Given the description of an element on the screen output the (x, y) to click on. 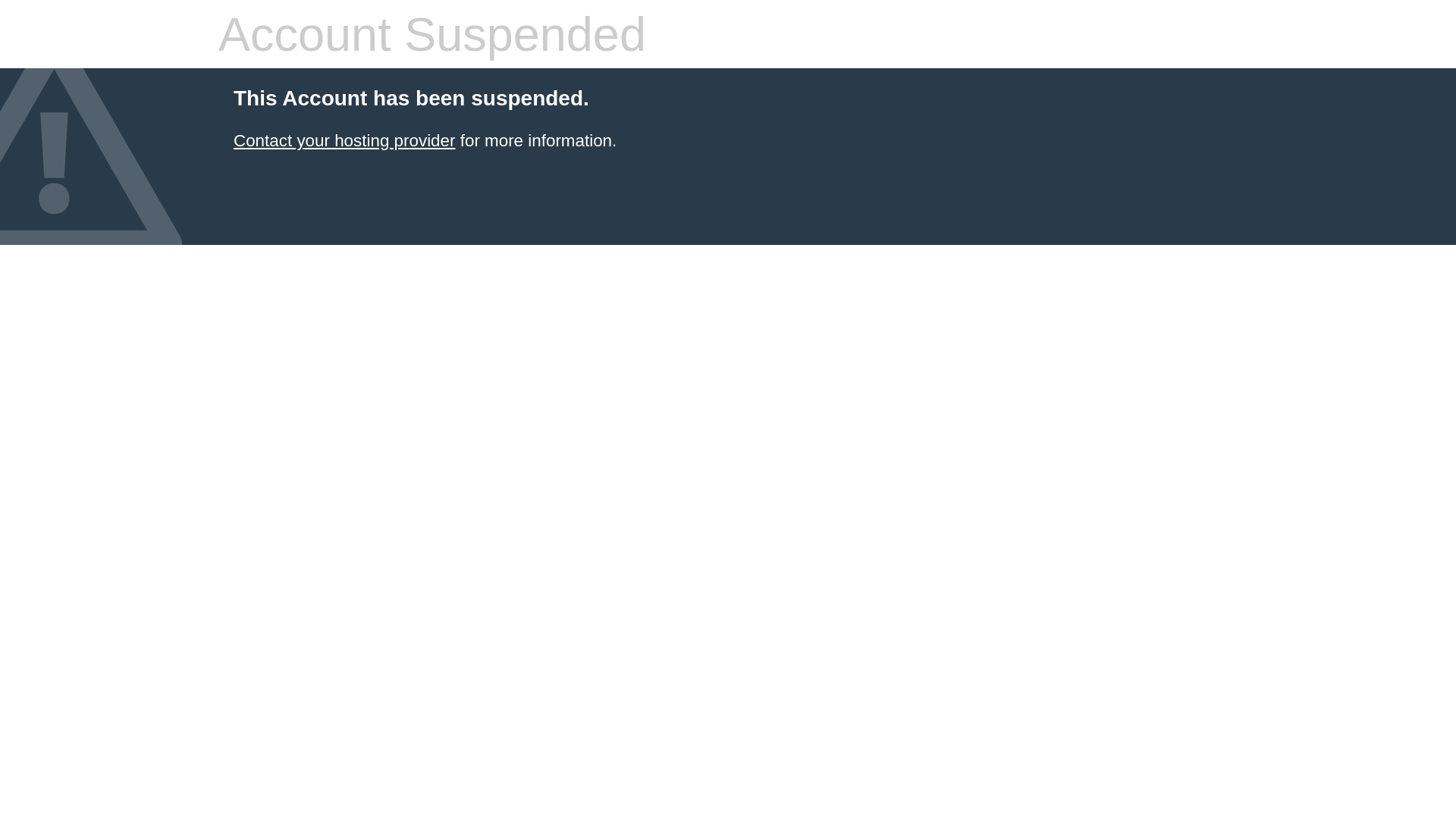
Contact your hosting provider Element type: text (344, 140)
